Given the description of an element on the screen output the (x, y) to click on. 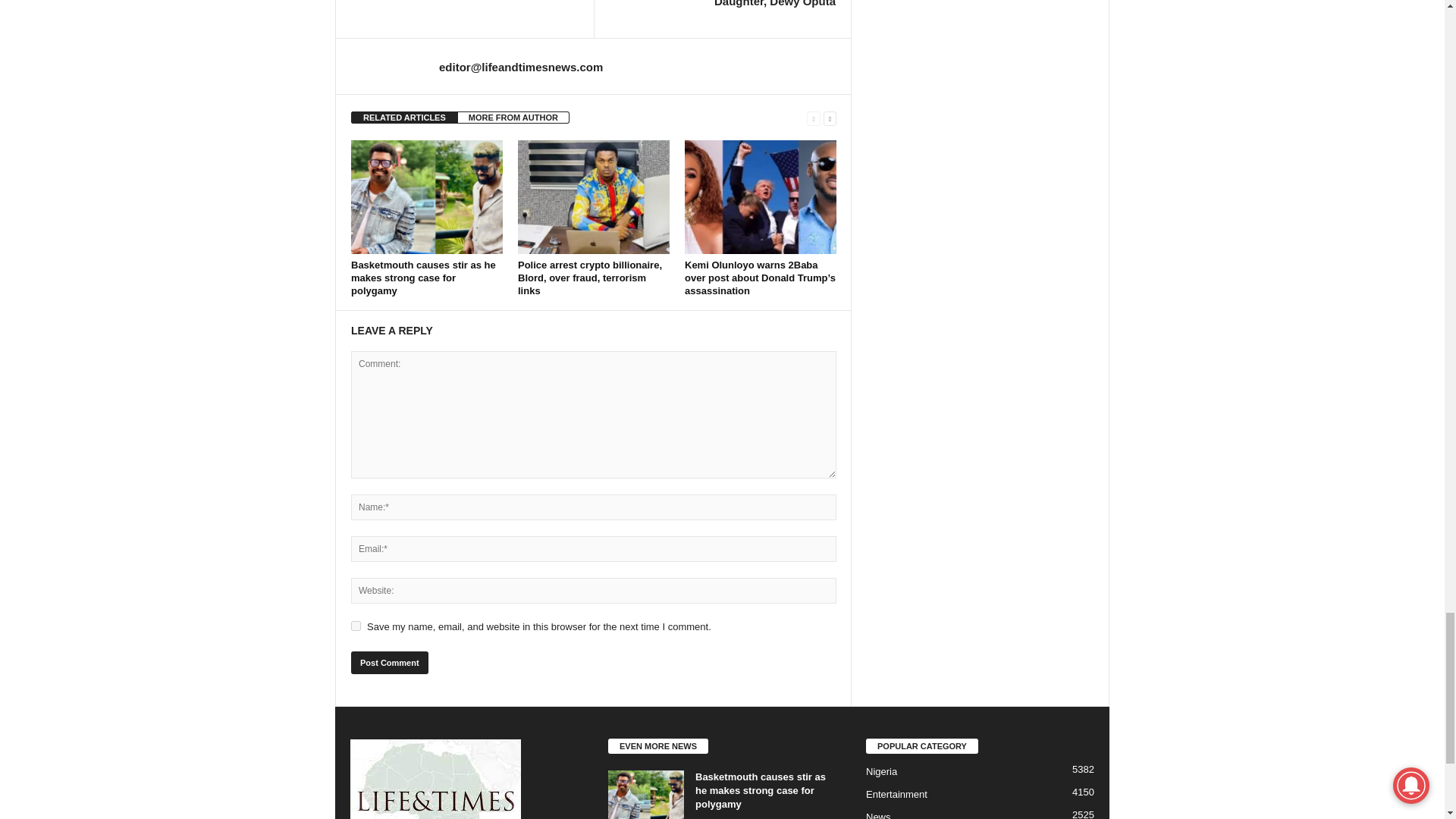
yes (355, 625)
Post Comment (389, 662)
